Given the description of an element on the screen output the (x, y) to click on. 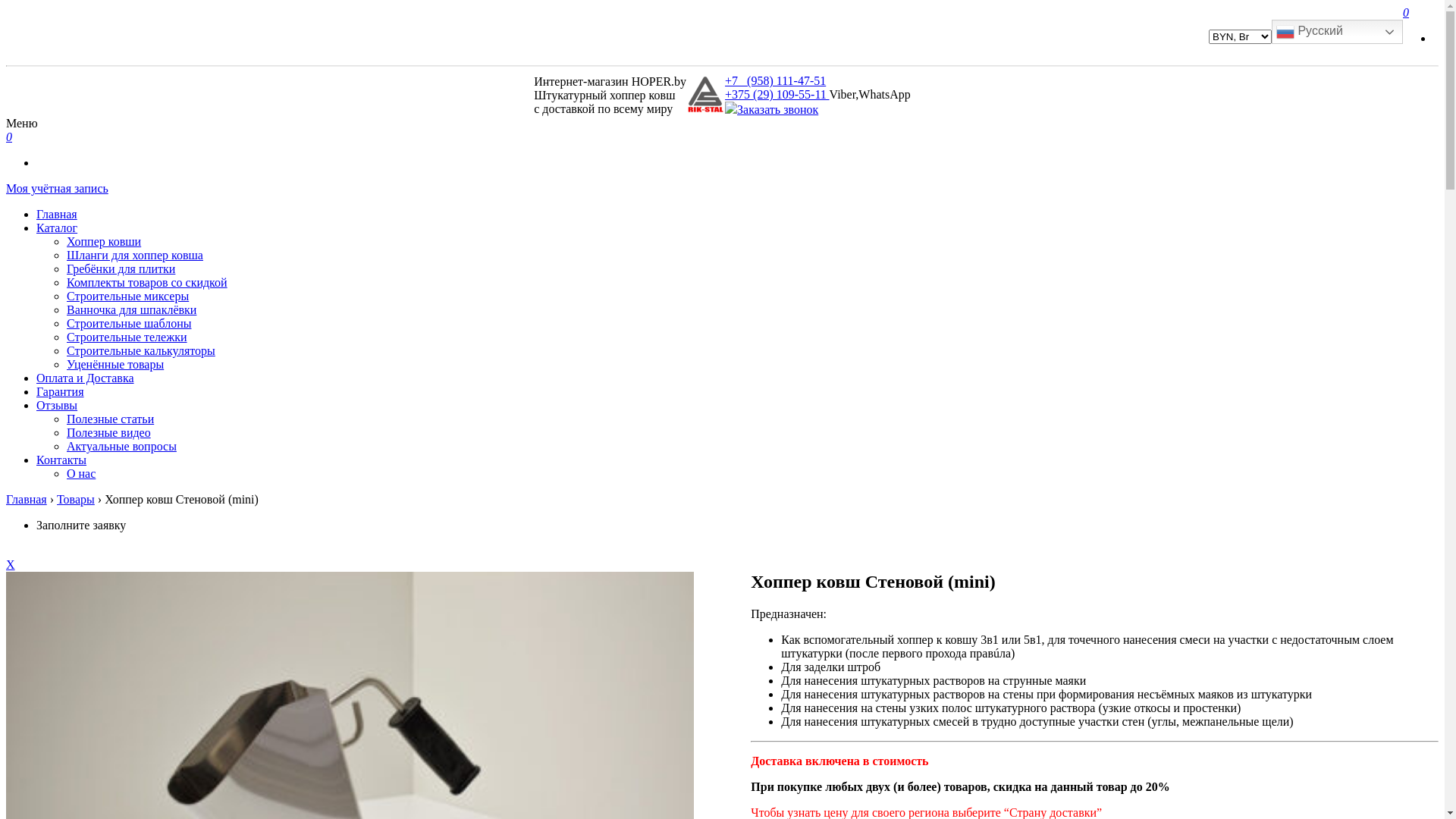
0 Element type: text (1405, 12)
X Element type: text (10, 564)
+7   (958) 111-47-51 Element type: text (774, 80)
+375 (29) 109-55-11 Element type: text (776, 93)
0 Element type: text (9, 136)
